Given the description of an element on the screen output the (x, y) to click on. 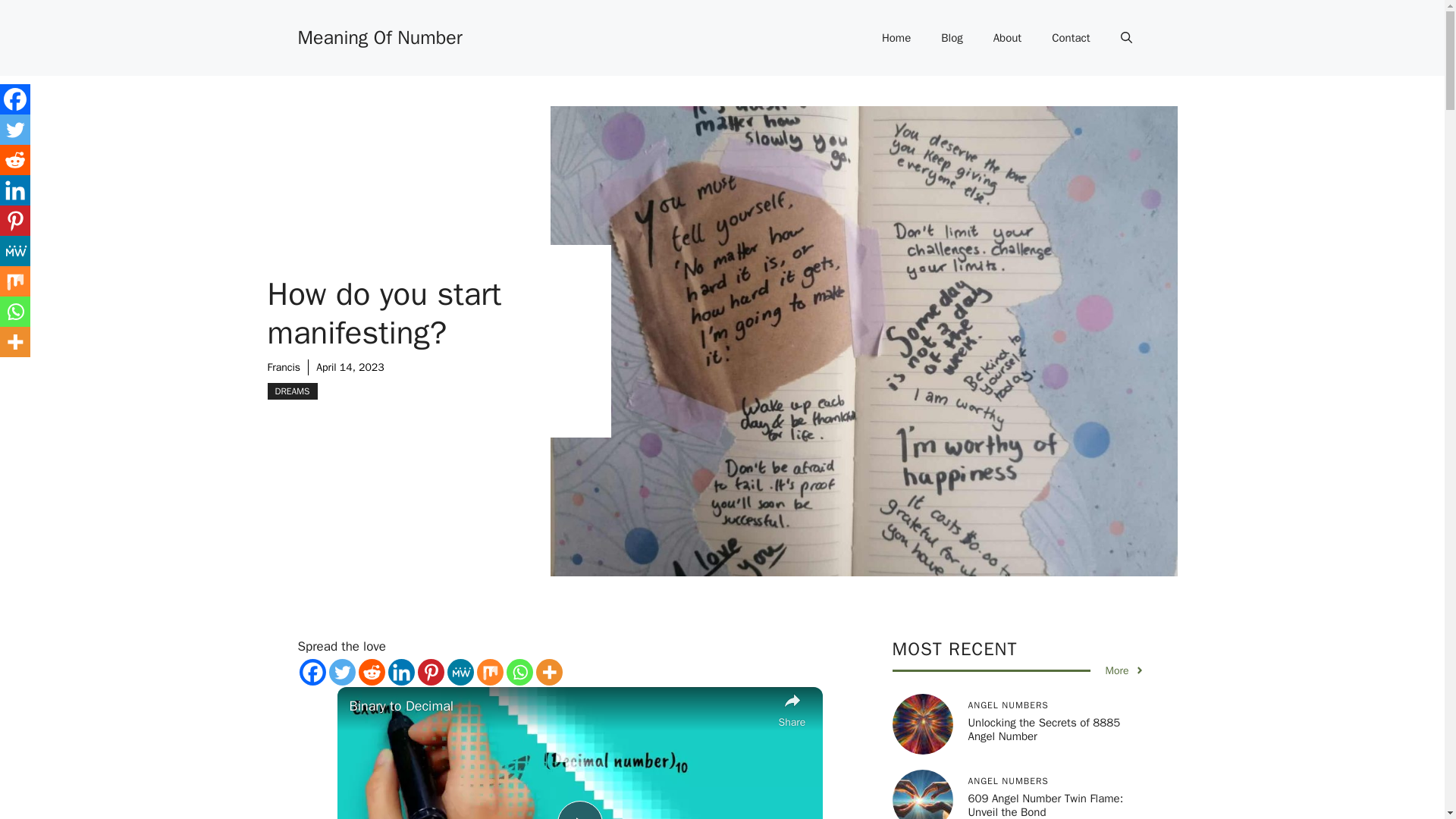
MeWe (460, 671)
Blog (951, 37)
Meaning Of Number (379, 37)
More (548, 671)
Francis (282, 367)
Play Video (579, 809)
DREAMS (291, 391)
Reddit (371, 671)
Whatsapp (519, 671)
Facebook (311, 671)
Linkedin (401, 671)
Play Video (579, 809)
About (1007, 37)
Home (896, 37)
Pinterest (430, 671)
